Given the description of an element on the screen output the (x, y) to click on. 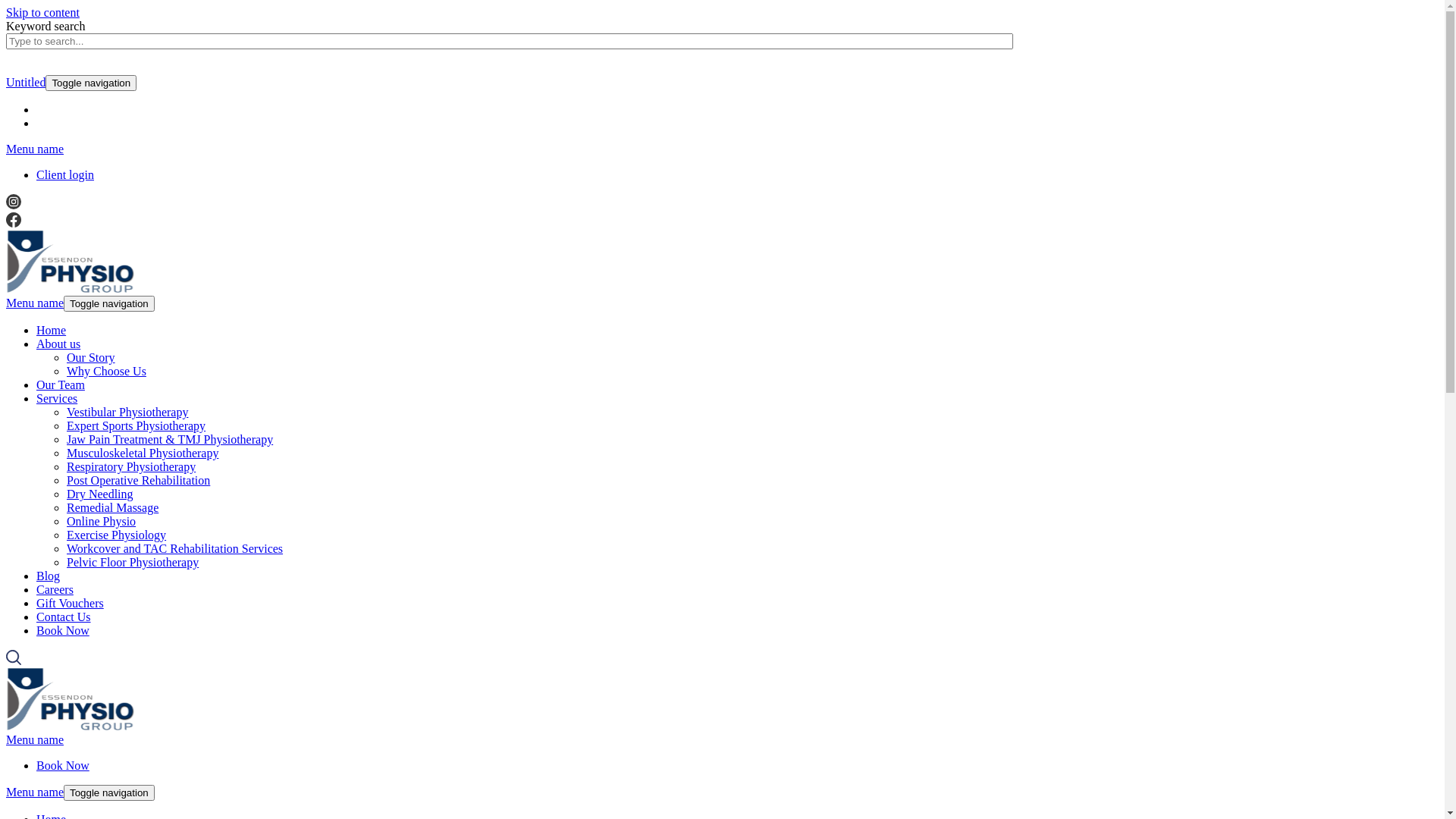
Menu name Element type: text (34, 791)
Untitled Element type: text (25, 81)
Home Element type: text (50, 329)
Careers Element type: text (54, 589)
Musculoskeletal Physiotherapy Element type: text (142, 452)
Skip to content Element type: text (42, 12)
Expert Sports Physiotherapy Element type: text (135, 425)
Post Operative Rehabilitation Element type: text (138, 479)
Menu name Element type: text (34, 302)
Our Team Element type: text (60, 384)
Pelvic Floor Physiotherapy Element type: text (132, 561)
Why Choose Us Element type: text (106, 370)
About us Element type: text (58, 343)
Client login Element type: text (65, 174)
Online Physio Element type: text (100, 520)
Blog Element type: text (47, 575)
Dry Needling Element type: text (99, 493)
Toggle navigation Element type: text (108, 303)
Services Element type: text (56, 398)
Contact Us Element type: text (63, 616)
Toggle navigation Element type: text (90, 83)
Vestibular Physiotherapy Element type: text (127, 411)
Exercise Physiology Element type: text (116, 534)
Menu name Element type: text (34, 739)
Workcover and TAC Rehabilitation Services Element type: text (174, 548)
Menu name Element type: text (34, 148)
Jaw Pain Treatment & TMJ Physiotherapy Element type: text (169, 439)
Toggle navigation Element type: text (108, 792)
Remedial Massage Element type: text (112, 507)
Gift Vouchers Element type: text (69, 602)
Book Now Element type: text (62, 765)
Respiratory Physiotherapy Element type: text (130, 466)
Our Story Element type: text (90, 357)
Book Now Element type: text (62, 630)
